Given the description of an element on the screen output the (x, y) to click on. 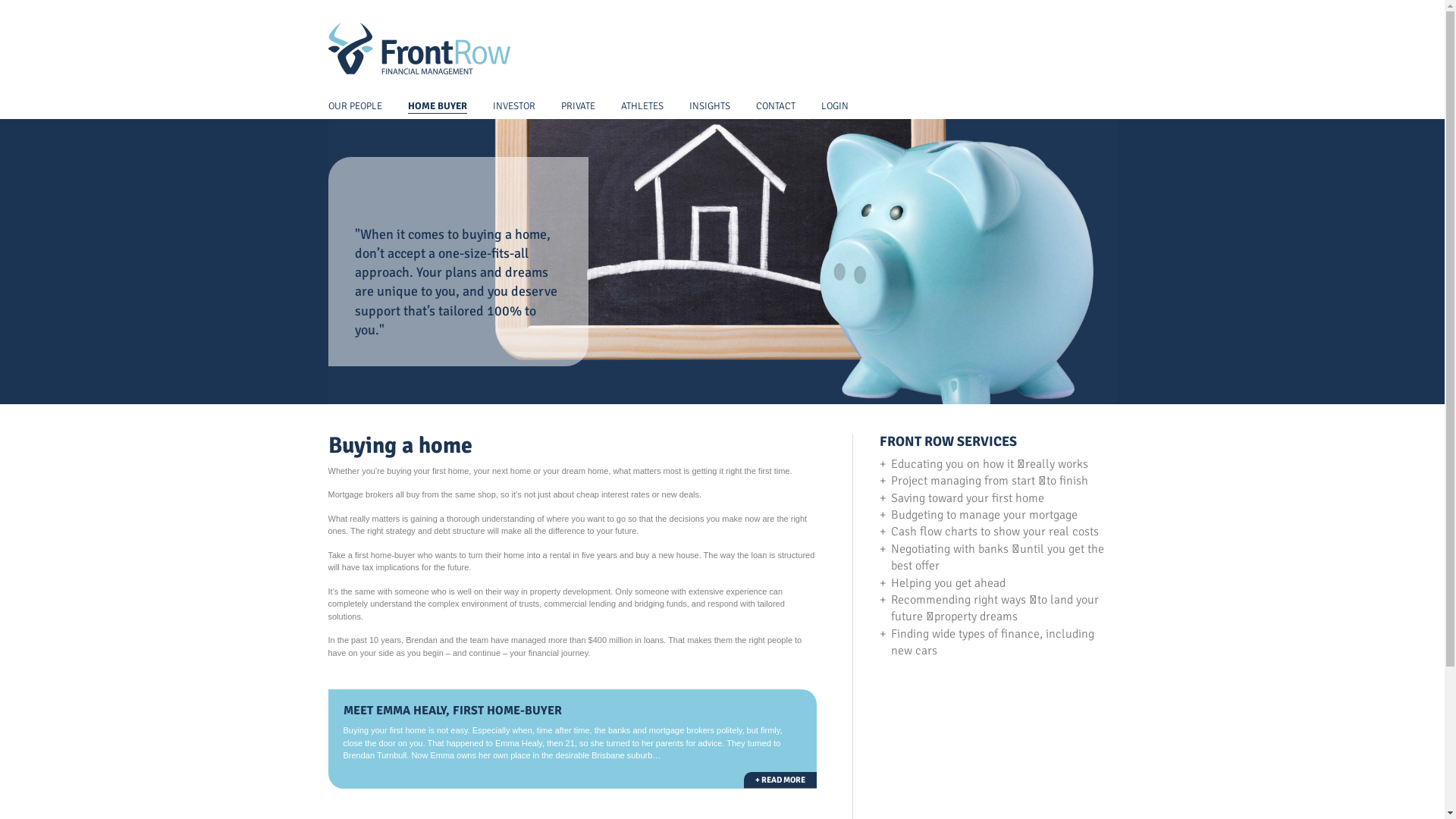
INVESTOR Element type: text (513, 106)
PRIVATE Element type: text (578, 106)
CONTACT Element type: text (774, 106)
LOGIN Element type: text (833, 106)
OUR PEOPLE Element type: text (354, 106)
HOME BUYER Element type: text (437, 106)
INSIGHTS Element type: text (708, 106)
+ READ MORE Element type: text (779, 779)
ATHLETES Element type: text (641, 106)
